Given the description of an element on the screen output the (x, y) to click on. 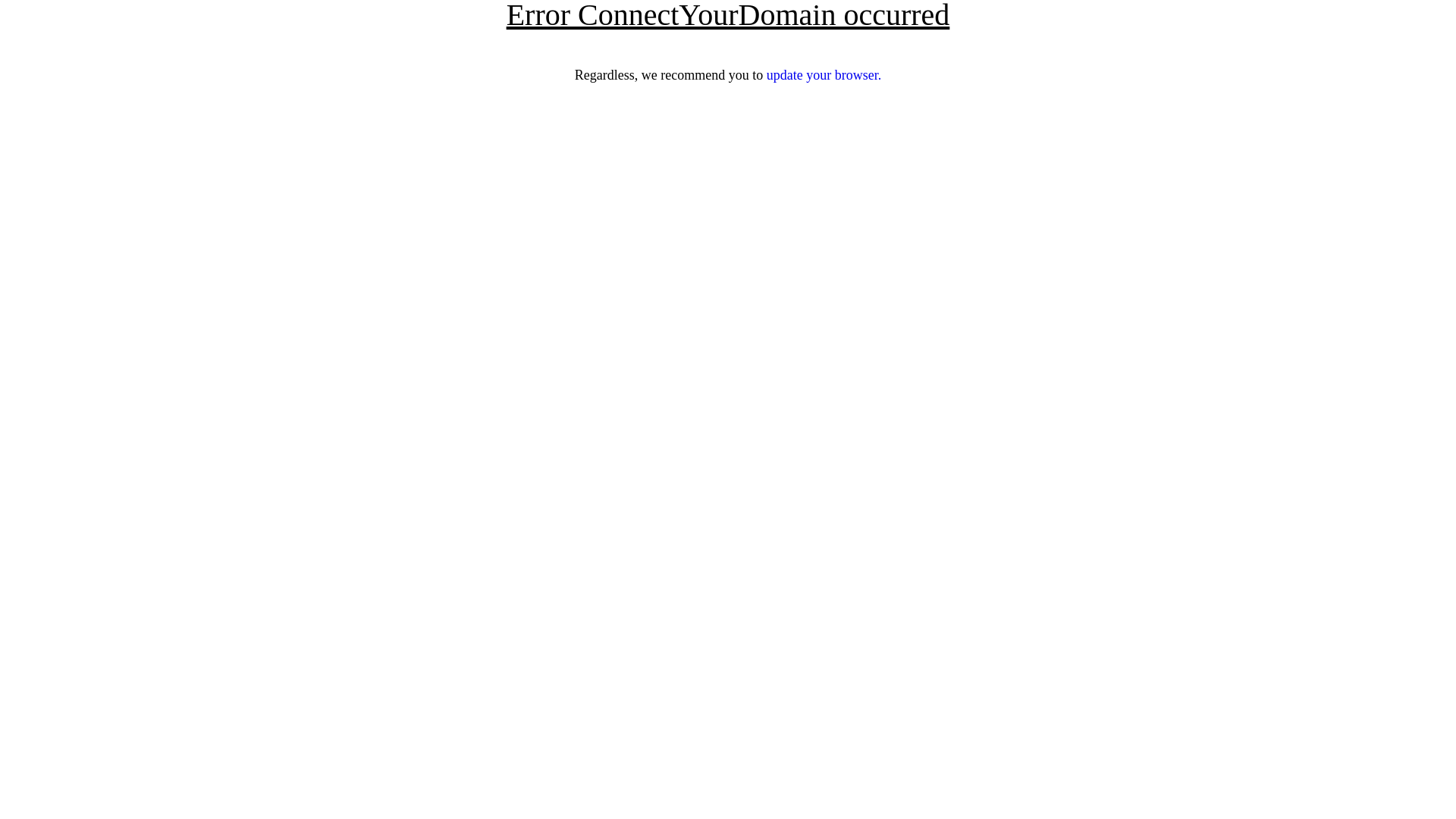
update your browser. Element type: text (823, 74)
